Given the description of an element on the screen output the (x, y) to click on. 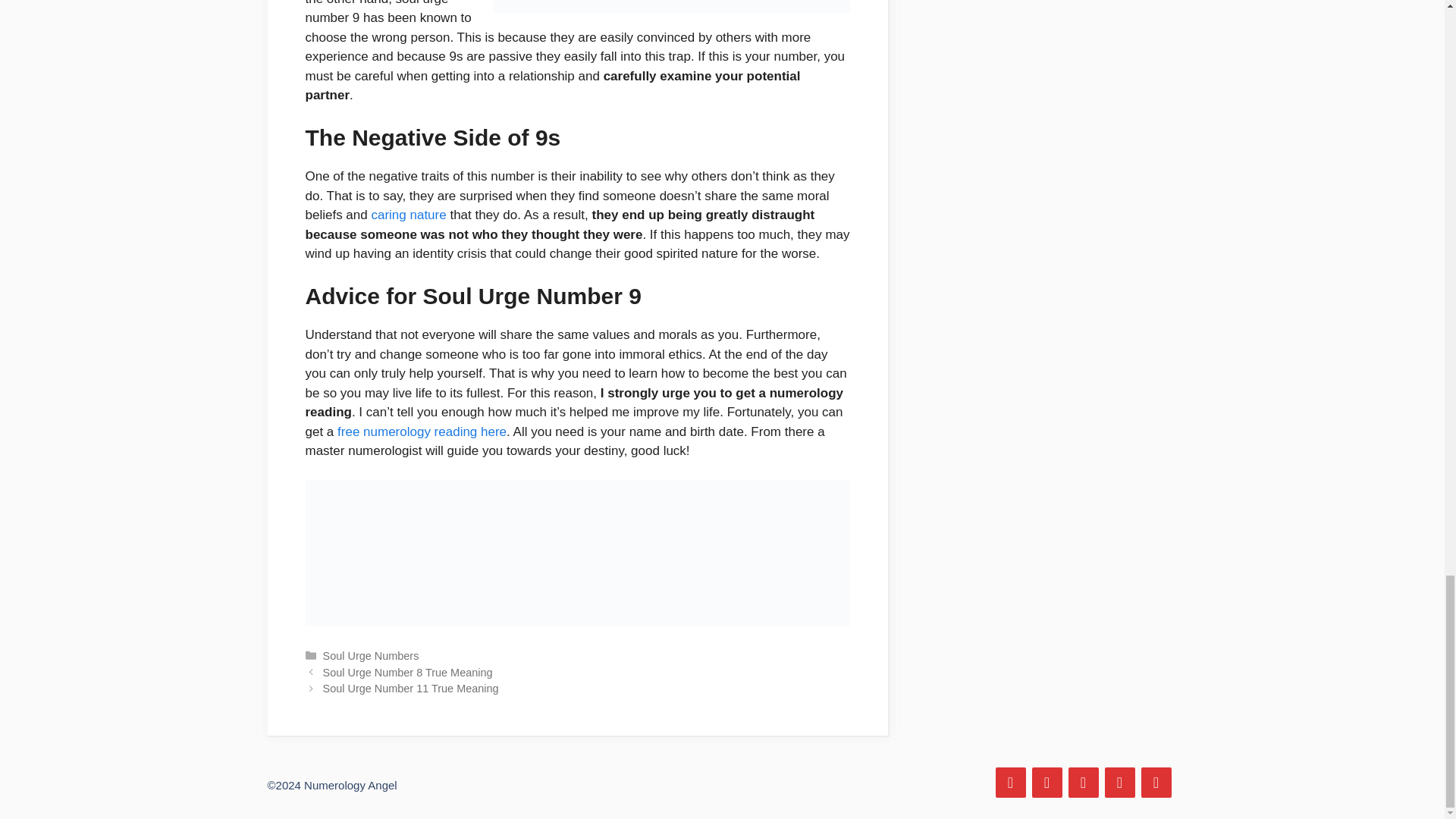
Soul Urge Numbers (371, 655)
Twitter (1045, 782)
YouTube (1155, 782)
Soul Urge Number 11 True Meaning (411, 688)
caring nature (408, 214)
free numerology reading here (421, 431)
Facebook (1009, 782)
Numerology Angel (350, 784)
Tumblr (1118, 782)
Pinterest (1082, 782)
Soul Urge Number 8 True Meaning (408, 672)
